Given the description of an element on the screen output the (x, y) to click on. 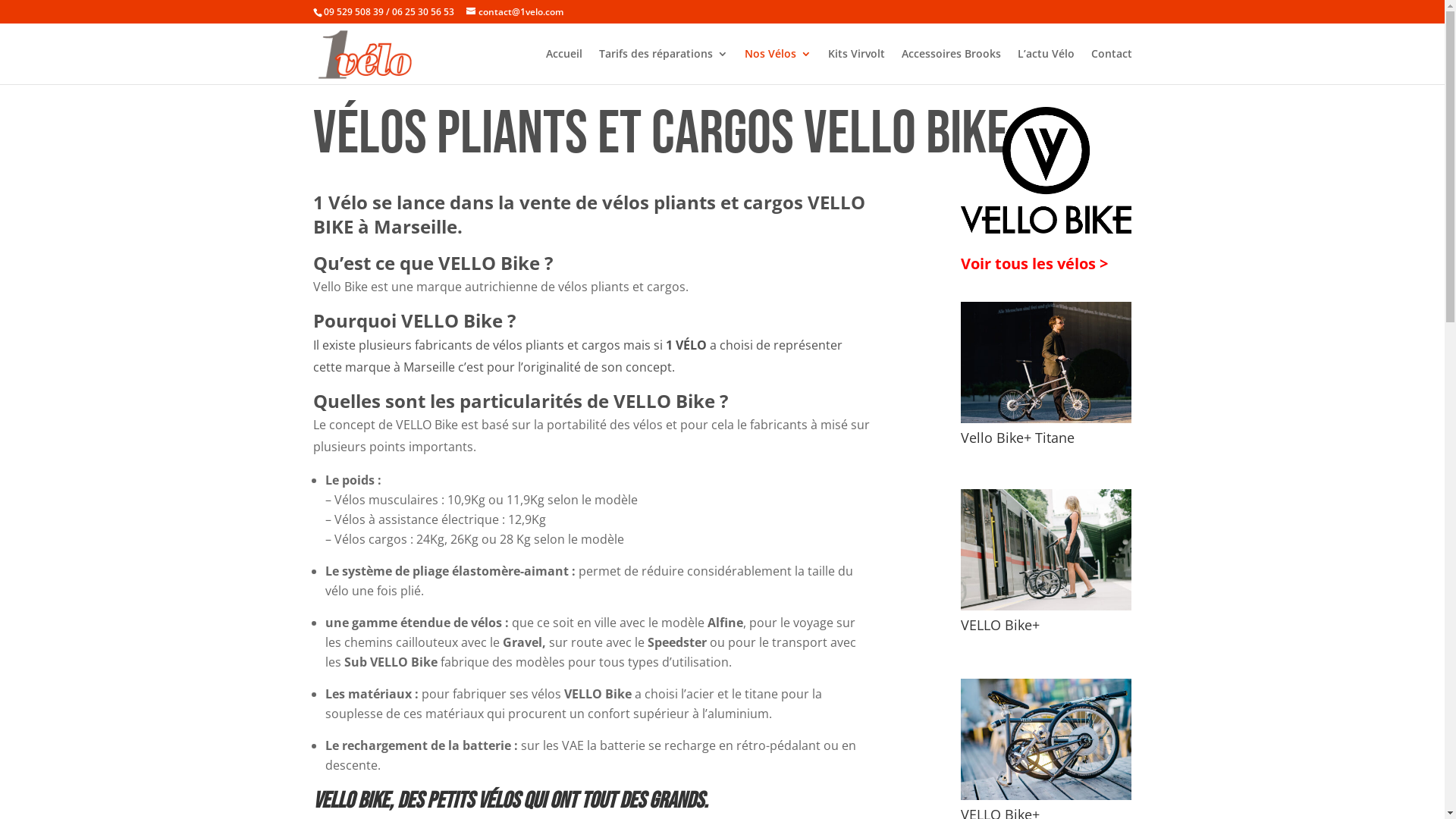
Contact Element type: text (1110, 66)
Accueil Element type: text (564, 66)
VELLO Bike+ Element type: hover (1045, 795)
contact@1velo.com Element type: text (513, 11)
Vello Bike+ Titane Element type: hover (1045, 418)
VELLO BIKE_Logo Element type: hover (1045, 169)
Accessoires Brooks Element type: text (950, 66)
VELLO Bike+ Element type: hover (1045, 606)
Kits Virvolt Element type: text (856, 66)
